Given the description of an element on the screen output the (x, y) to click on. 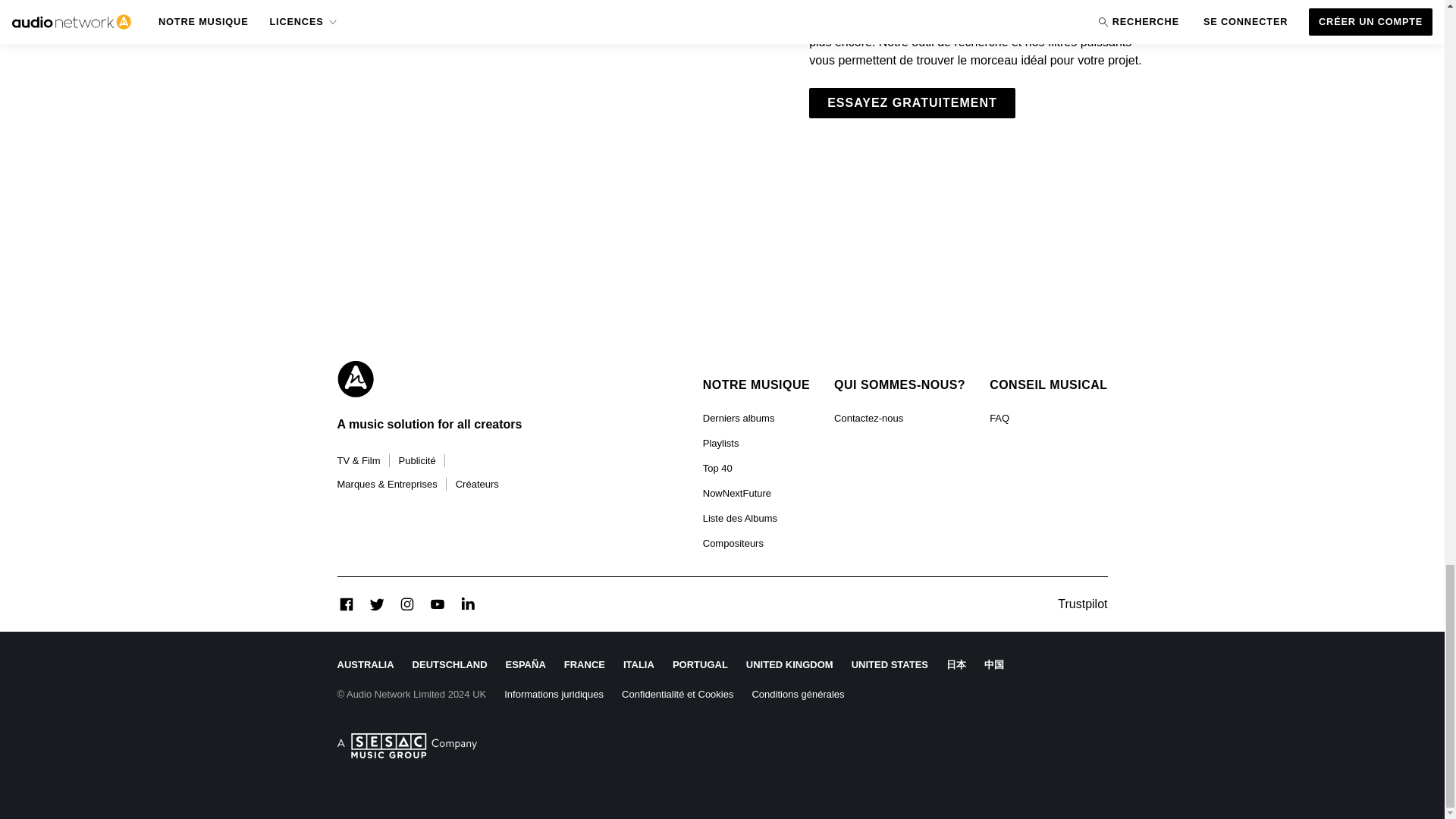
QUI SOMMES-NOUS? (899, 385)
NOTRE MUSIQUE (756, 385)
YouTube (436, 604)
CONSEIL MUSICAL (1048, 385)
NowNextFuture (737, 493)
Facebook (345, 604)
Liste des Albums (740, 518)
LinkedIn (467, 604)
Compositeurs (732, 543)
Playlists (721, 443)
